Given the description of an element on the screen output the (x, y) to click on. 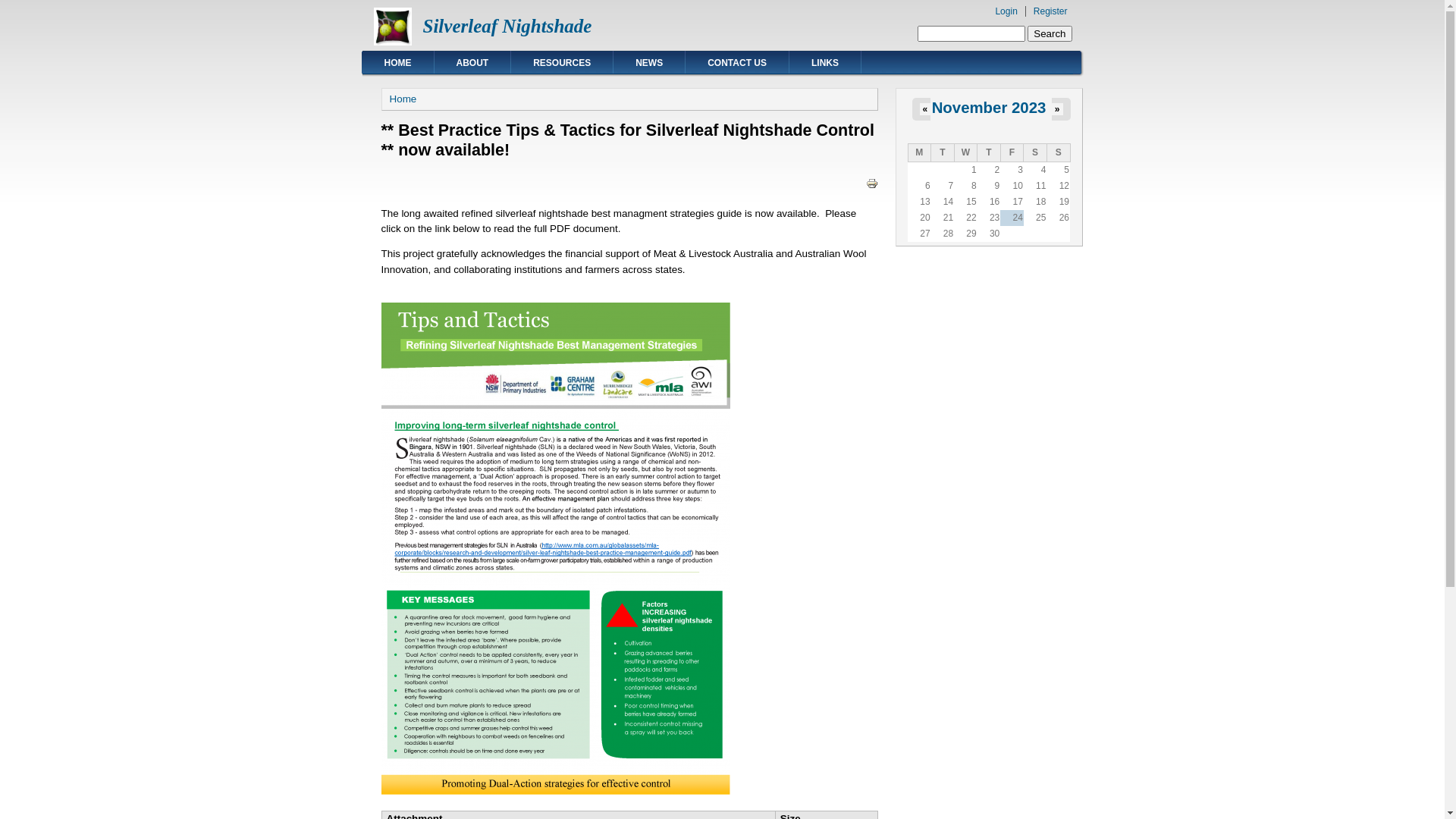
November 2023 Element type: text (988, 107)
Home Element type: text (403, 98)
RESOURCES Element type: text (561, 62)
LINKS Element type: text (824, 62)
Display a printer-friendly version of this page. Element type: hover (872, 182)
Printer-friendly version Element type: hover (872, 183)
ABOUT Element type: text (471, 62)
Enter the terms you wish to search for. Element type: hover (970, 33)
Search Element type: text (1049, 33)
Register Element type: text (1050, 11)
NEWS Element type: text (648, 62)
HOME Element type: text (397, 62)
Silverleaf Nightshade Element type: text (507, 25)
CONTACT US Element type: text (736, 62)
Home Element type: hover (392, 41)
Login Element type: text (1005, 11)
